Given the description of an element on the screen output the (x, y) to click on. 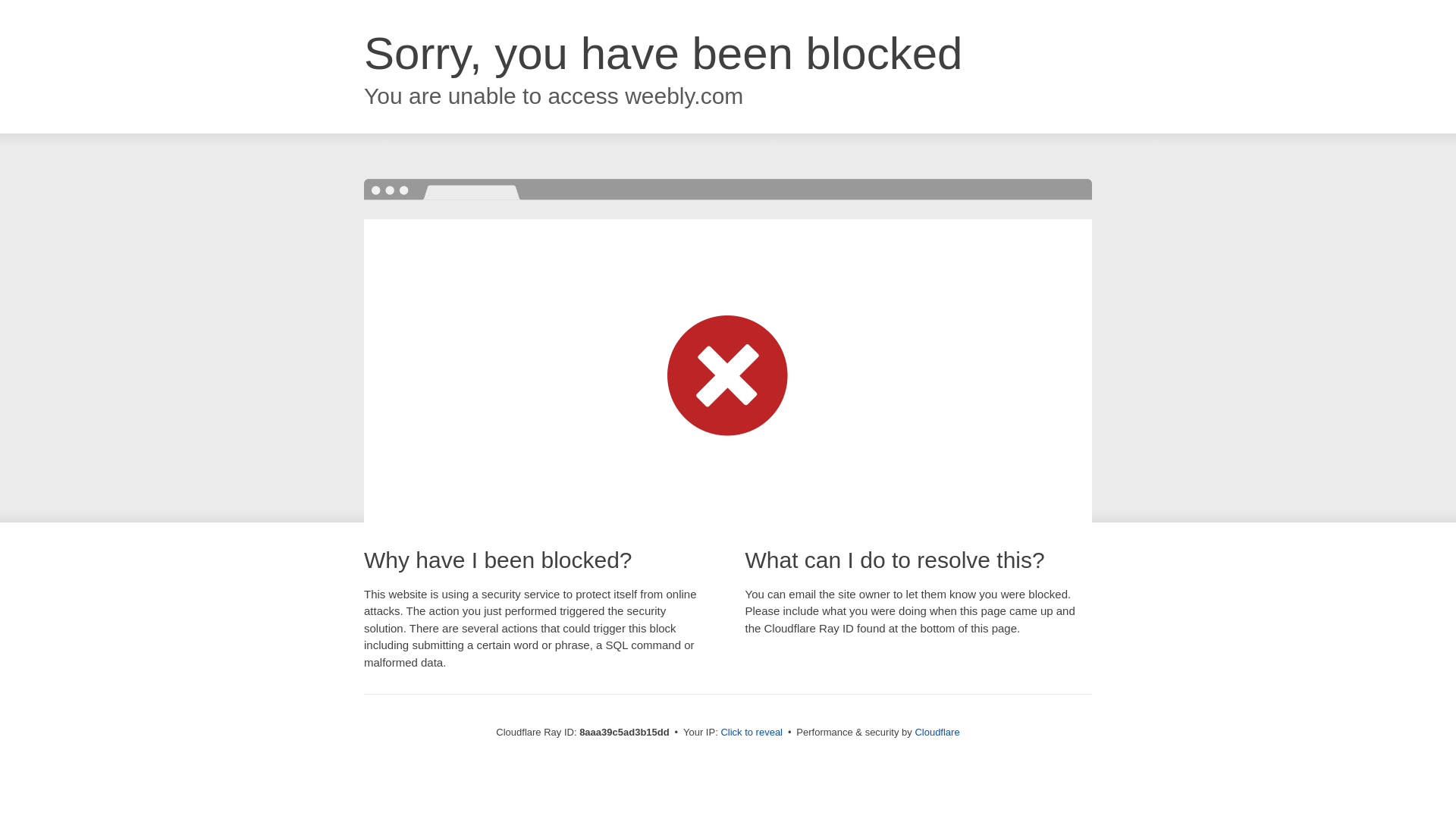
Click to reveal (751, 732)
Cloudflare (936, 731)
